Given the description of an element on the screen output the (x, y) to click on. 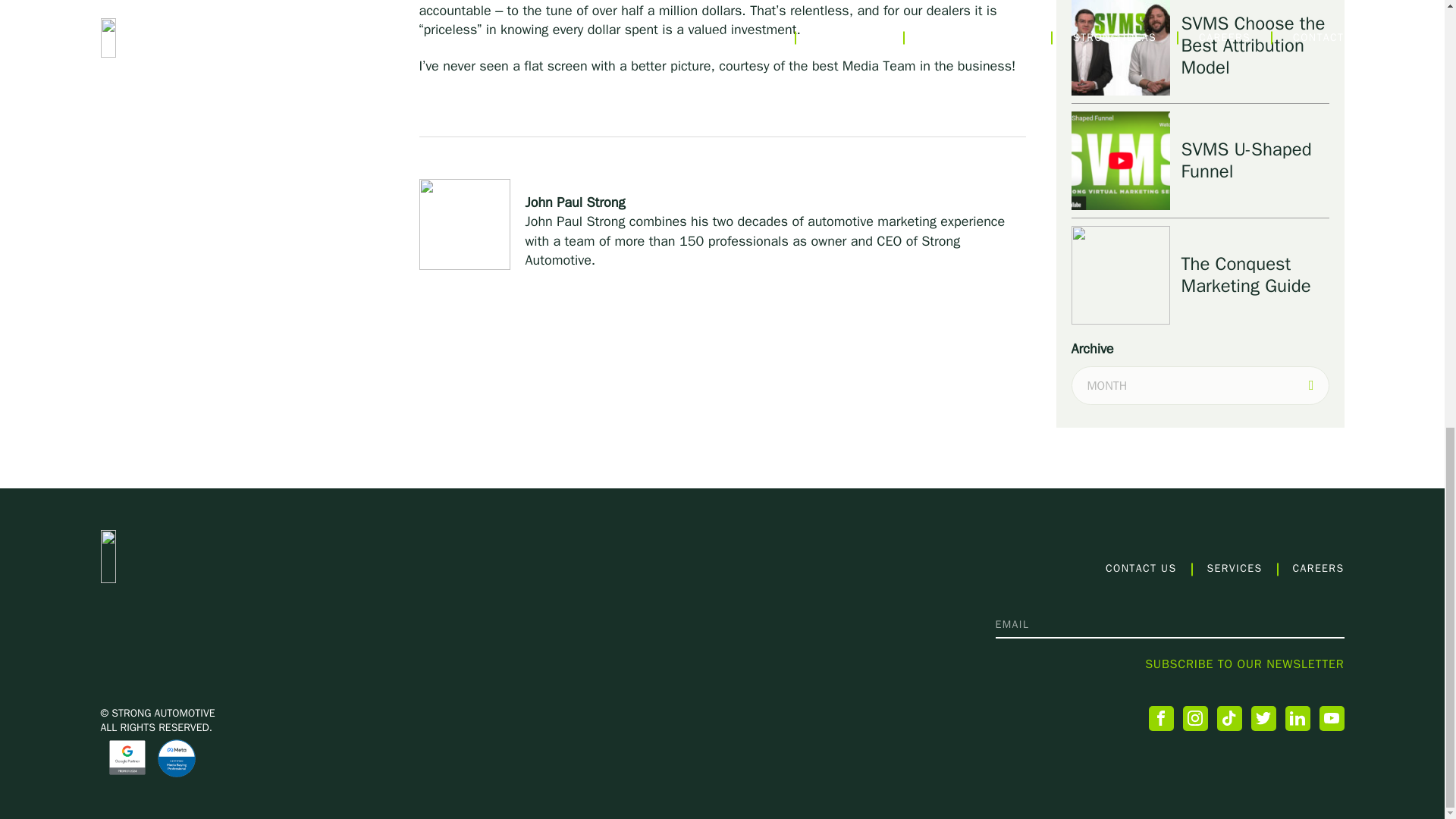
Twitter (1263, 718)
Google Premier Partner (126, 757)
Facebook (1160, 718)
TikTok (1228, 718)
LinkedIn (1296, 718)
Meta Partner (176, 758)
Strong Automotive (204, 556)
Youtube (1331, 718)
Instagram (1195, 718)
